Given the description of an element on the screen output the (x, y) to click on. 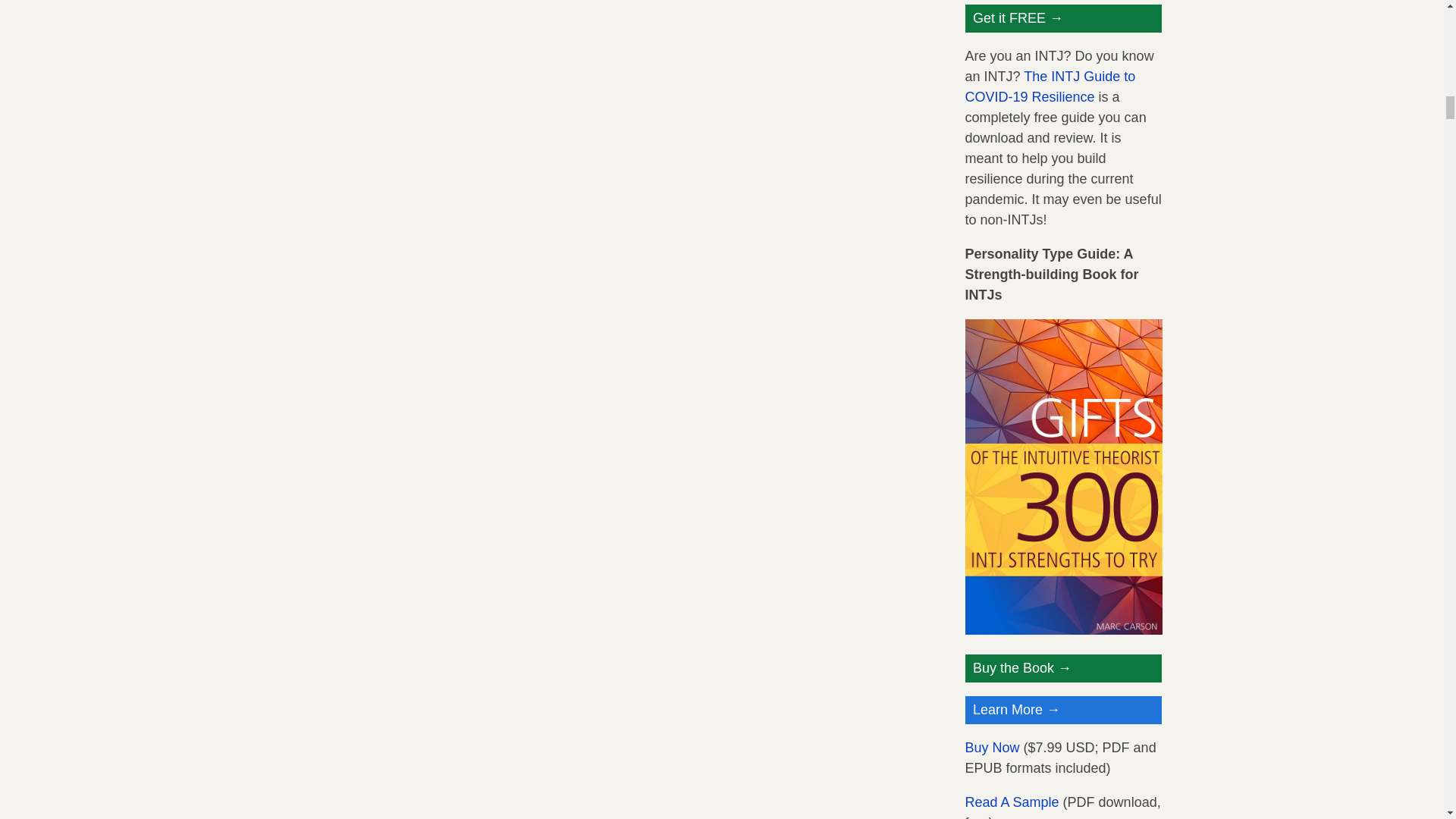
The INTJ Guide to COVID-19 Resilience (1049, 86)
Buy Now (991, 747)
Read A Sample (1010, 801)
